Given the description of an element on the screen output the (x, y) to click on. 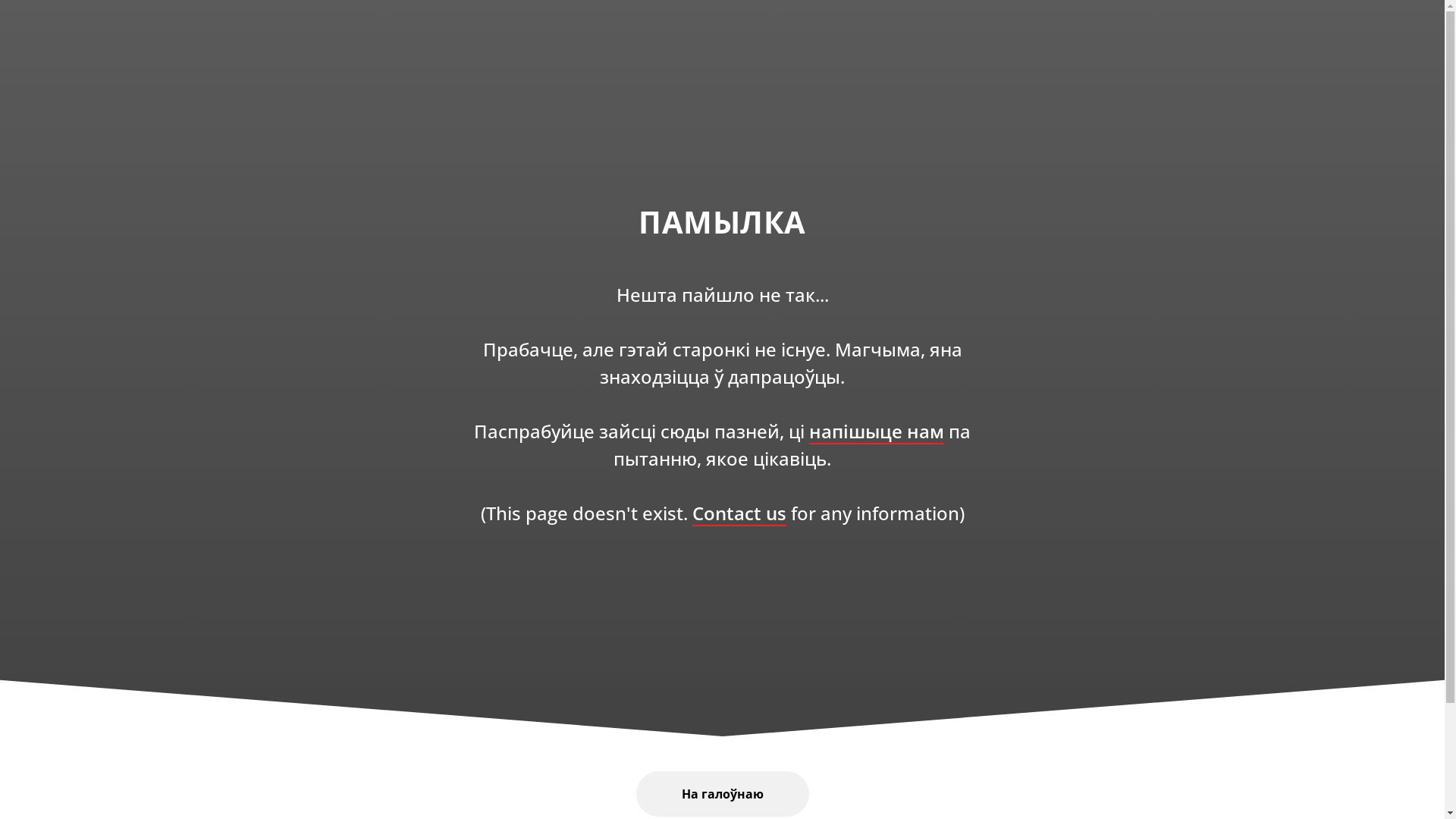
Contact us Element type: text (738, 513)
